Given the description of an element on the screen output the (x, y) to click on. 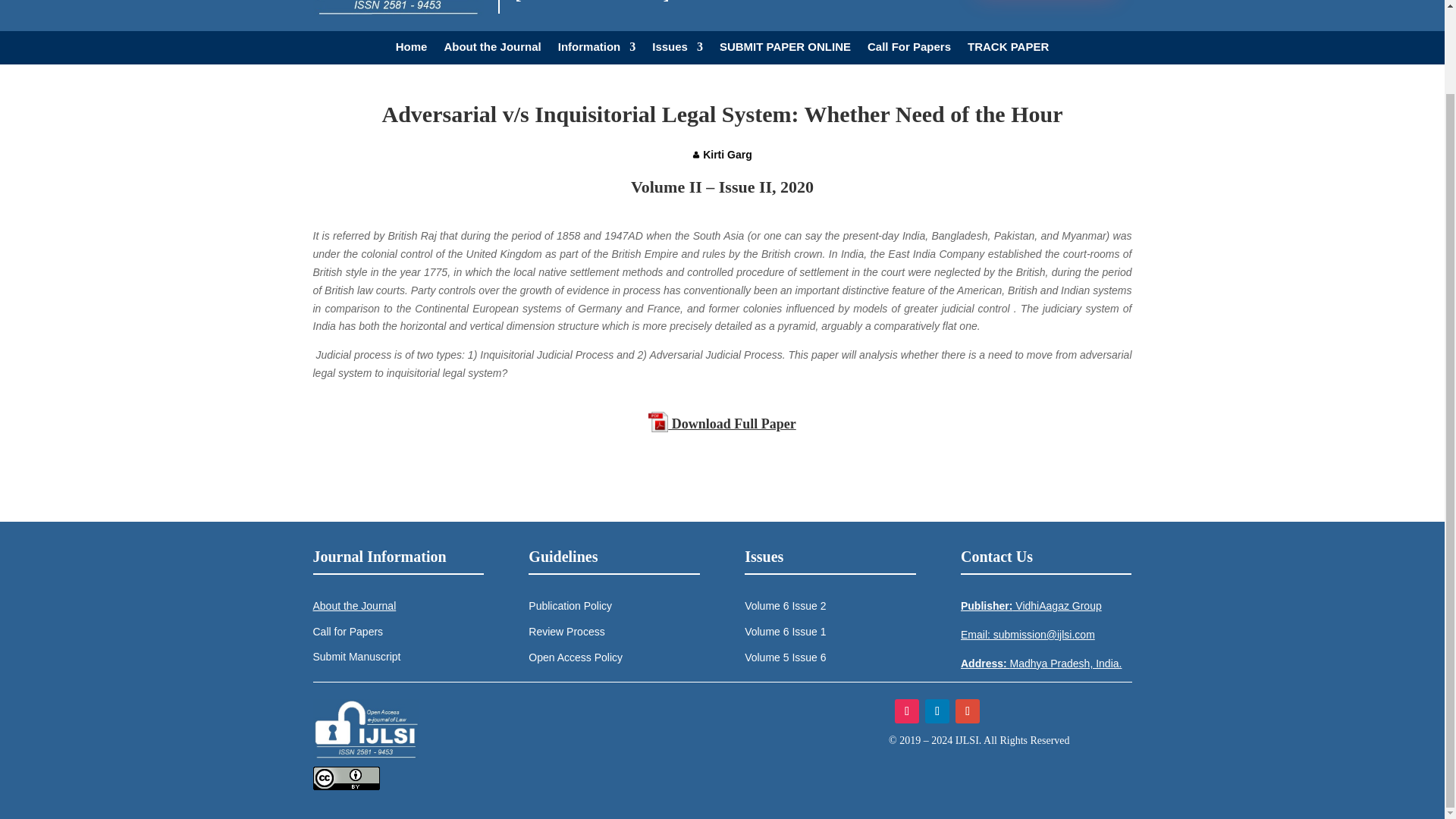
logo (366, 729)
Call For Papers (908, 48)
Information (596, 48)
Issues (677, 48)
Follow on LinkedIn (936, 711)
Follow on google-plus (967, 711)
Follow on Instagram (906, 711)
SUBMIT PAPER ONLINE (784, 48)
logo (398, 8)
About the Journal (492, 48)
